Given the description of an element on the screen output the (x, y) to click on. 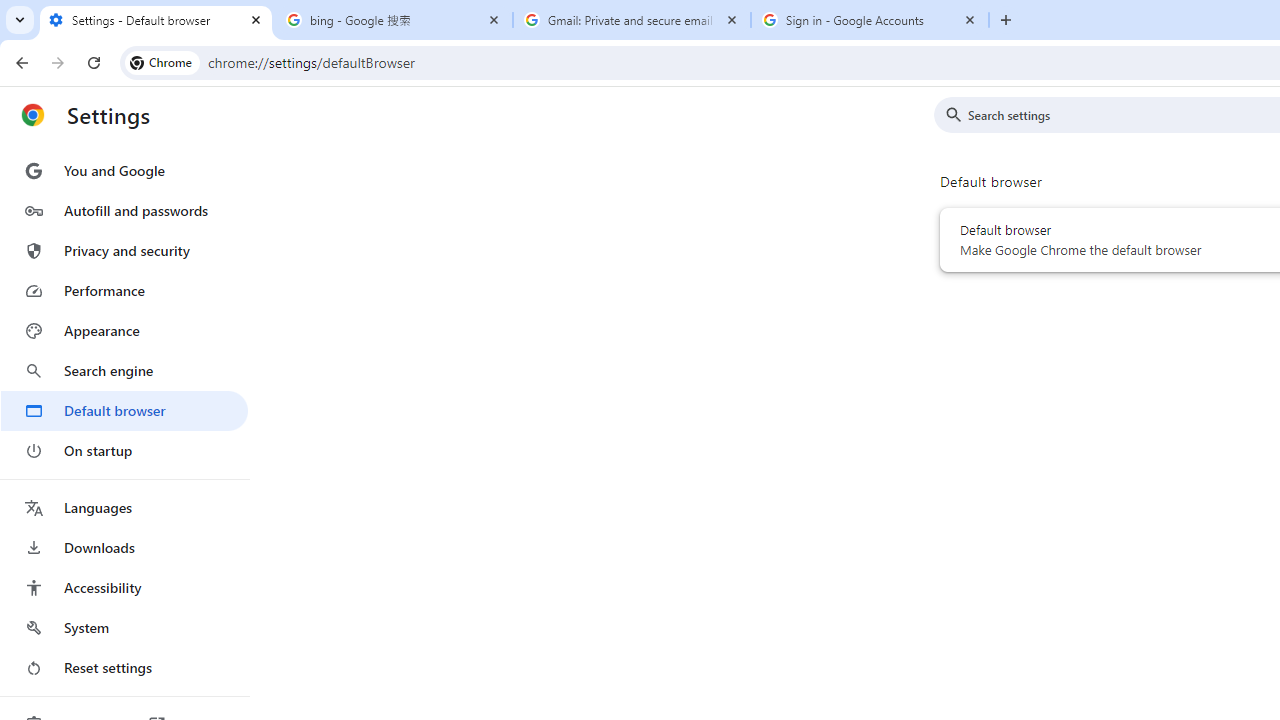
Accessibility (124, 587)
Downloads (124, 547)
Privacy and security (124, 250)
Default browser (124, 410)
Appearance (124, 331)
